Given the description of an element on the screen output the (x, y) to click on. 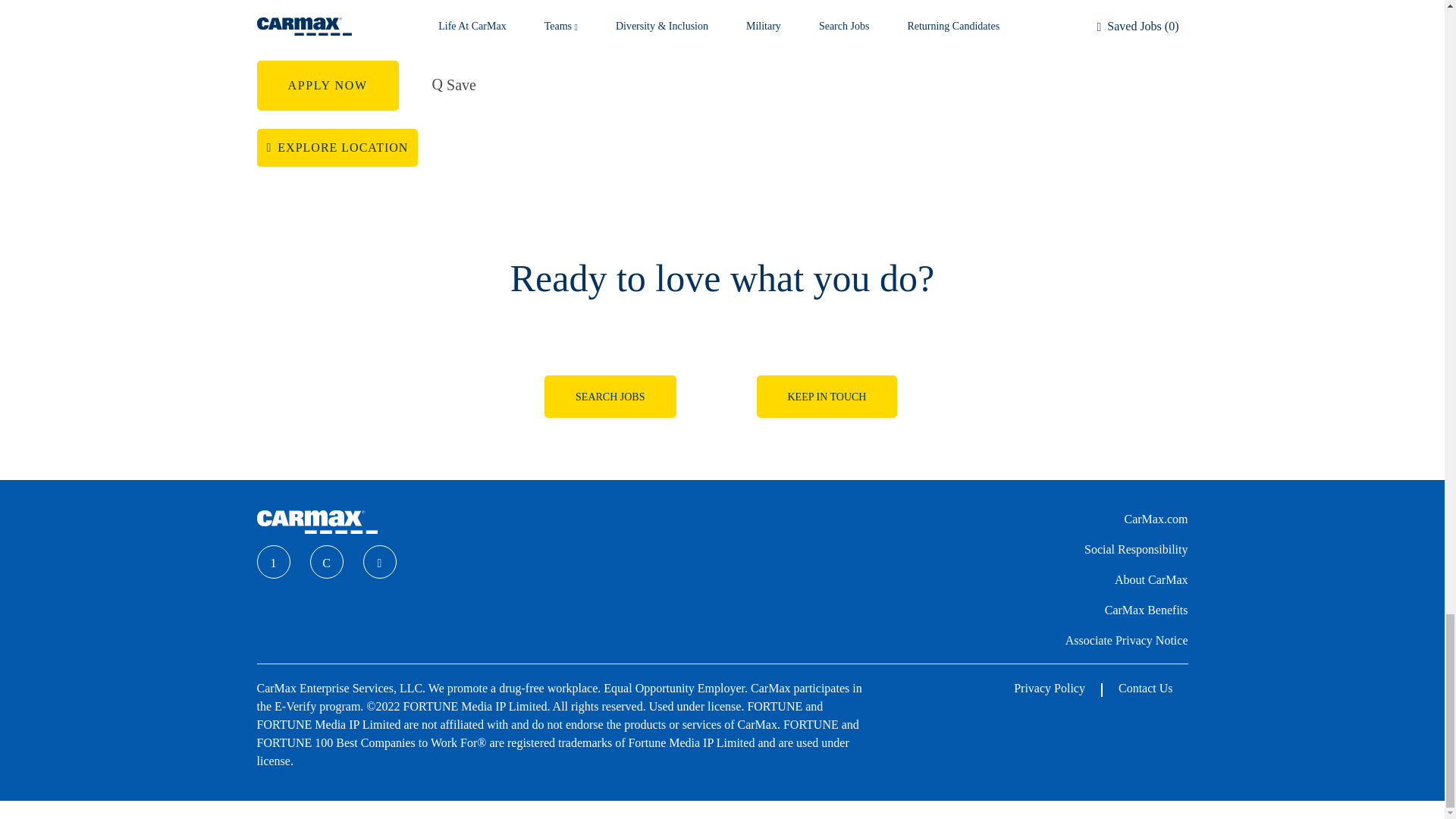
EXPLORE LOCATION (336, 147)
Apply Now (326, 85)
Search Results (609, 396)
Search Results (827, 396)
APPLY NOW (326, 85)
